Given the description of an element on the screen output the (x, y) to click on. 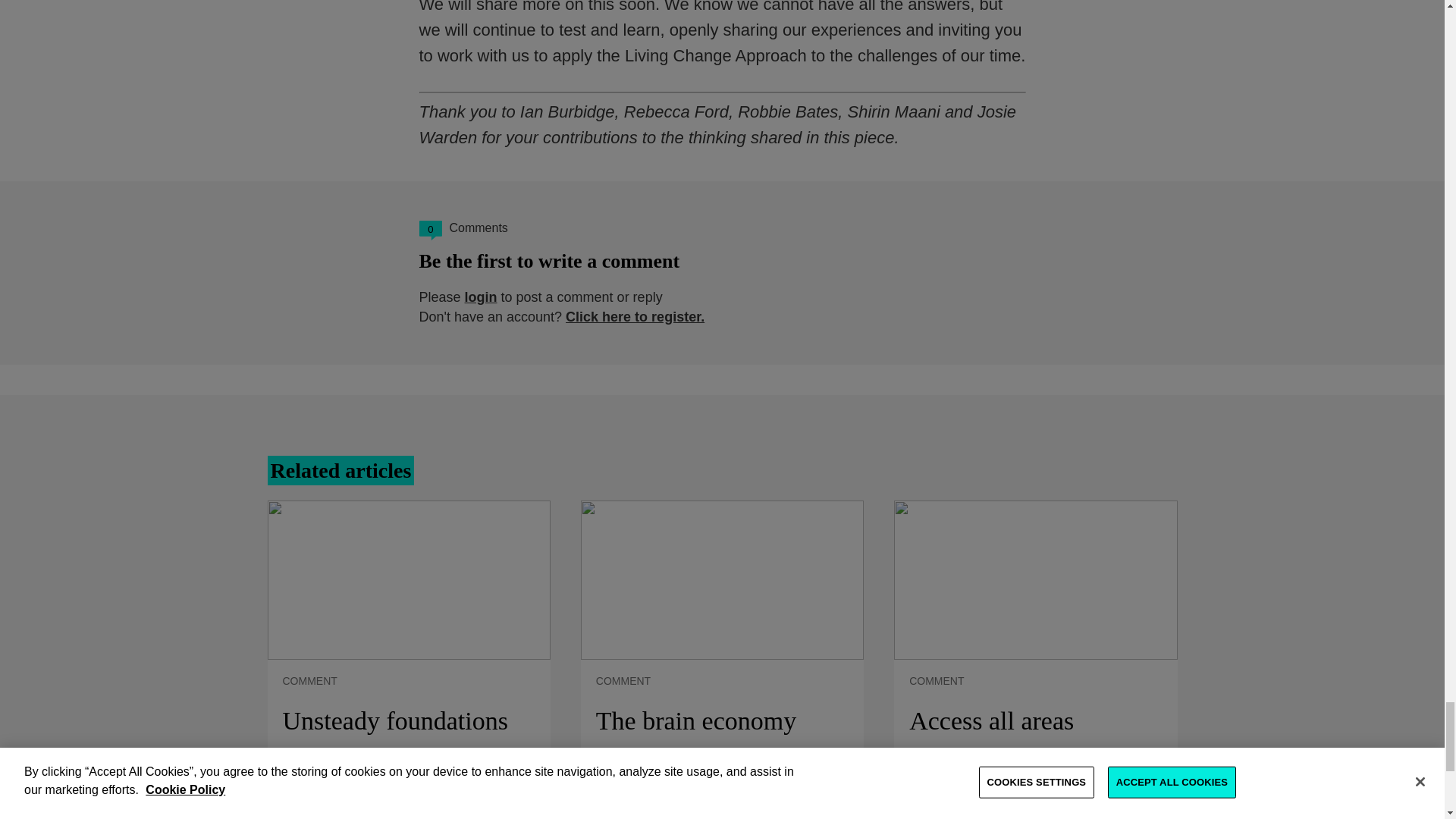
0 (430, 230)
